Given the description of an element on the screen output the (x, y) to click on. 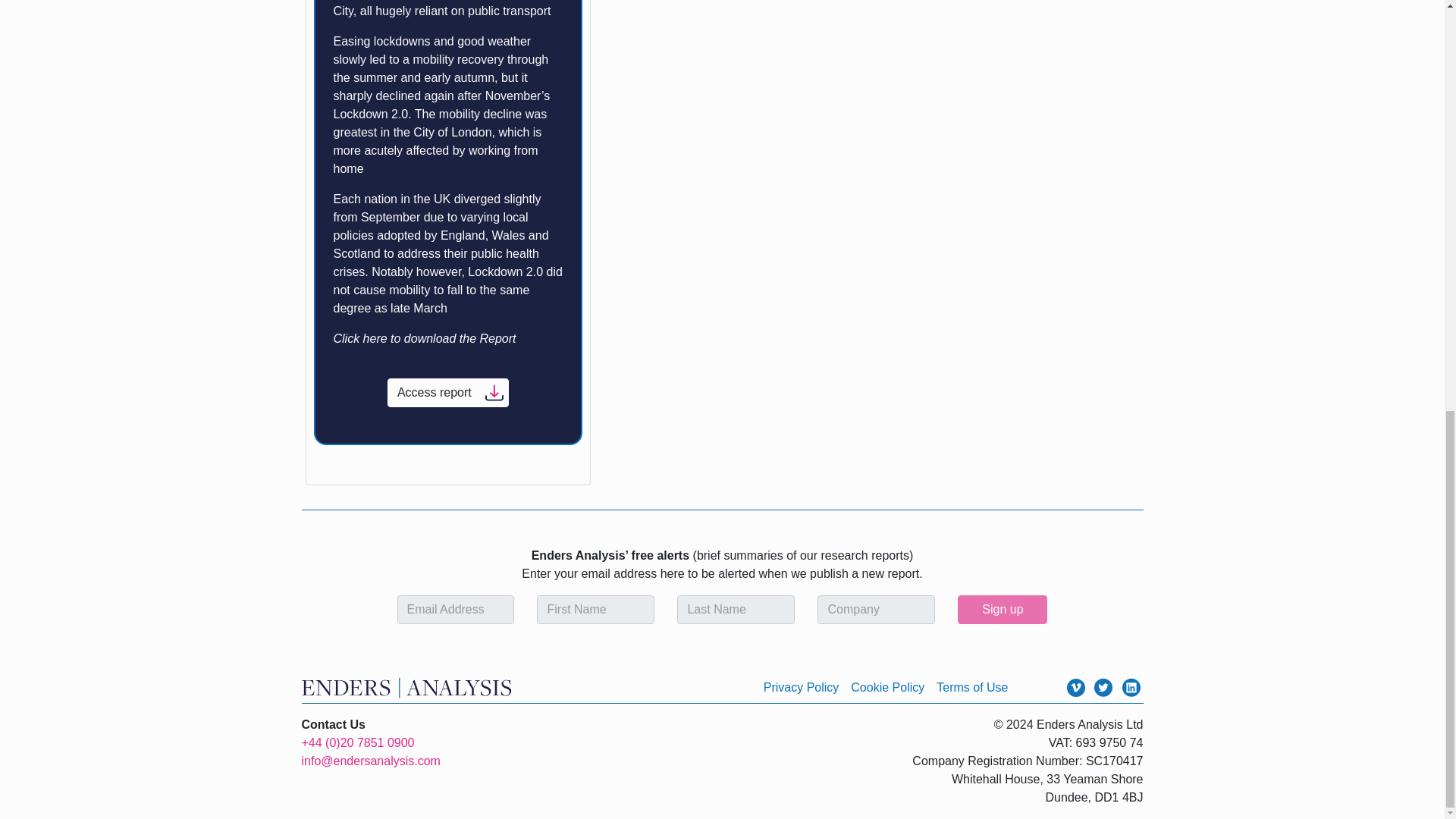
Sign up (1002, 609)
Terms of Use (971, 687)
Privacy Policy (801, 687)
Access report (447, 392)
Click here to download the Report  (426, 338)
Cookie Policy (887, 687)
